Given the description of an element on the screen output the (x, y) to click on. 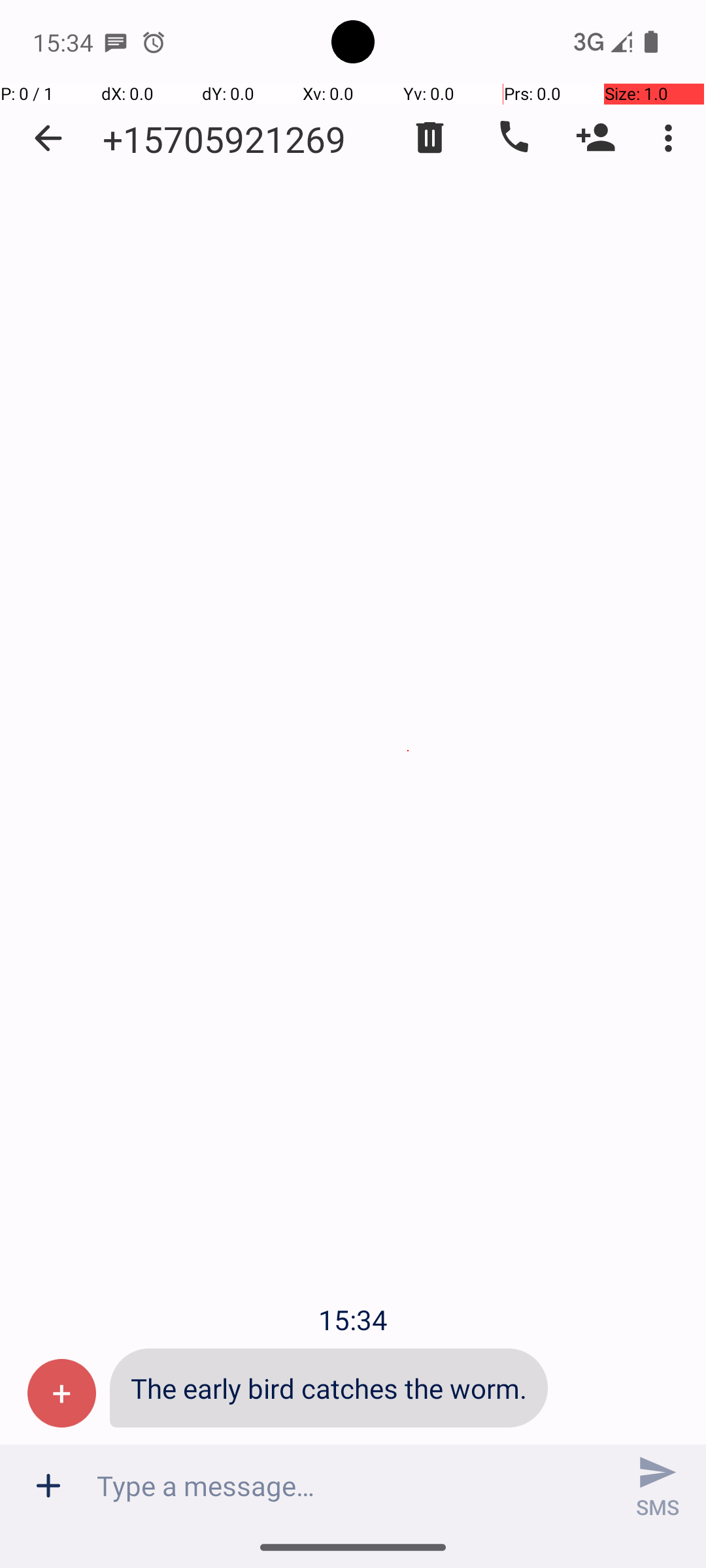
+15705921269 Element type: android.widget.TextView (223, 138)
The early bird catches the worm. Element type: android.widget.TextView (328, 1387)
